Given the description of an element on the screen output the (x, y) to click on. 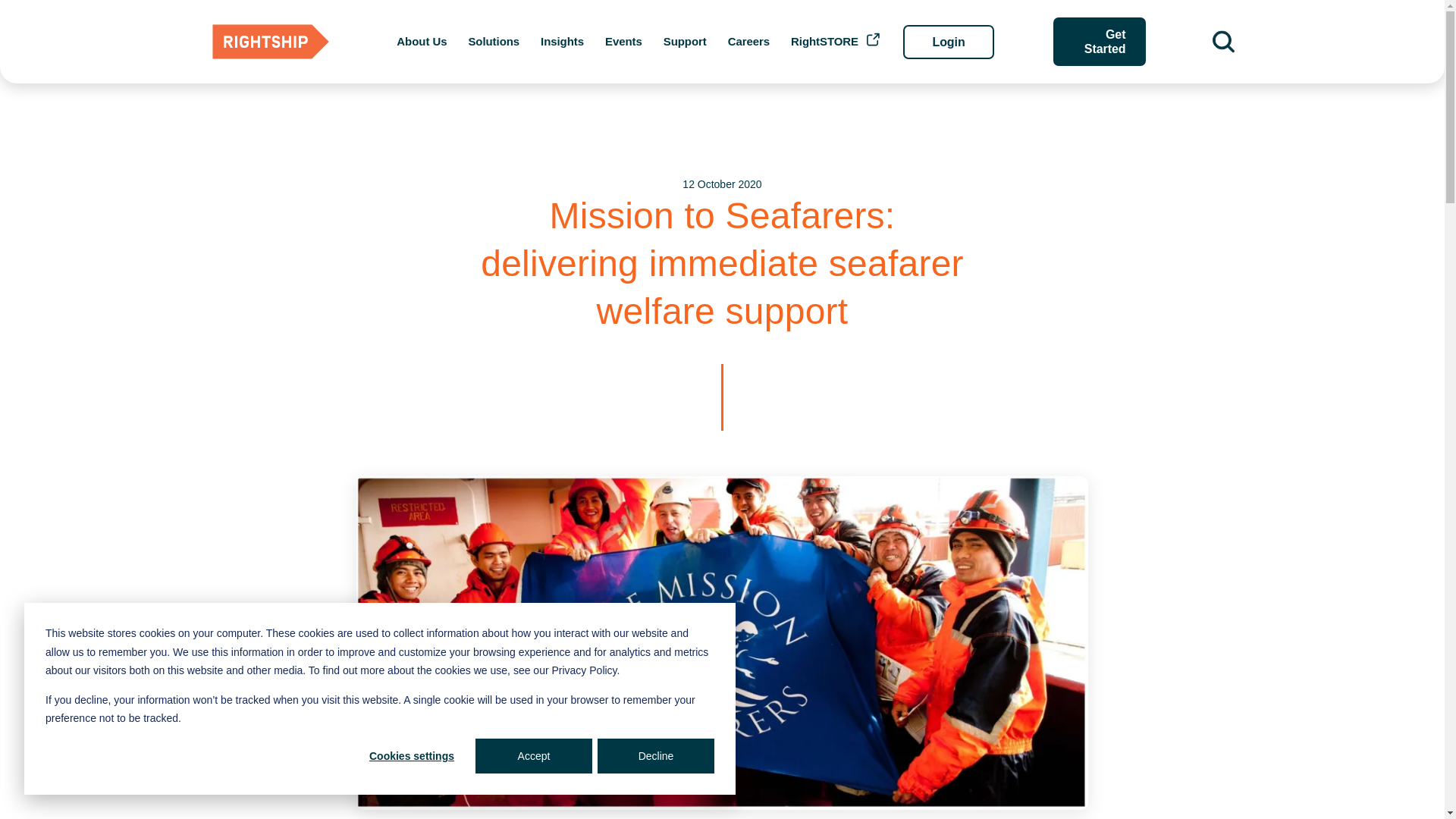
About Us (421, 41)
logo (271, 41)
Careers (749, 41)
RightSTORE (824, 41)
Solutions (493, 41)
Support (684, 41)
Events (623, 41)
Insights (561, 41)
